Given the description of an element on the screen output the (x, y) to click on. 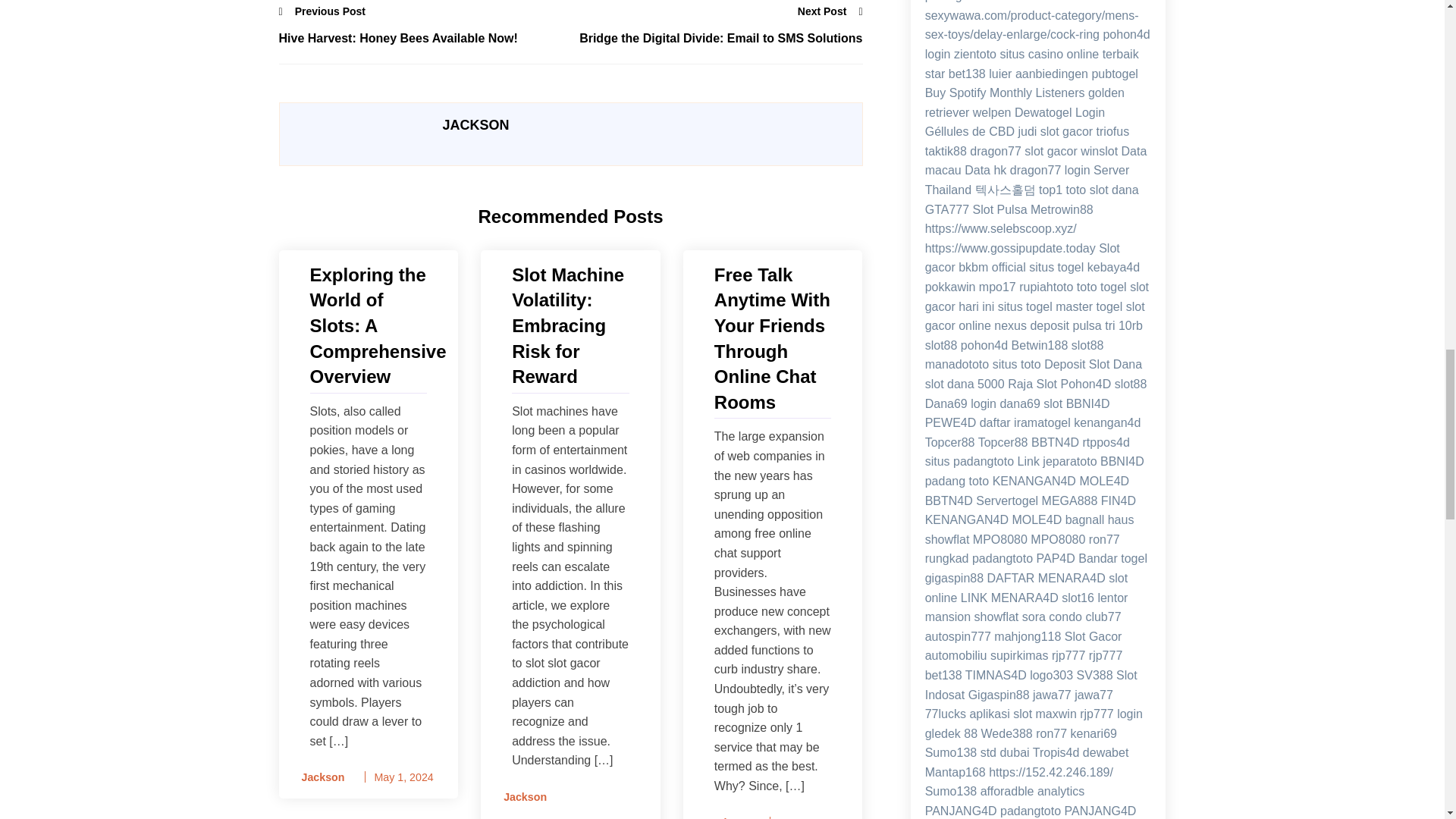
Next Post (830, 11)
Jackson (722, 816)
Hive Harvest: Honey Bees Available Now! (424, 38)
Exploring the World of Slots: A Comprehensive Overview (367, 325)
Jackson (520, 796)
June 1, 2023 (809, 817)
Slot Machine Volatility: Embracing Risk for Reward (570, 325)
May 1, 2024 (403, 776)
Jackson (318, 777)
Previous Post (322, 11)
Bridge the Digital Divide: Email to SMS Solutions (715, 38)
